Given the description of an element on the screen output the (x, y) to click on. 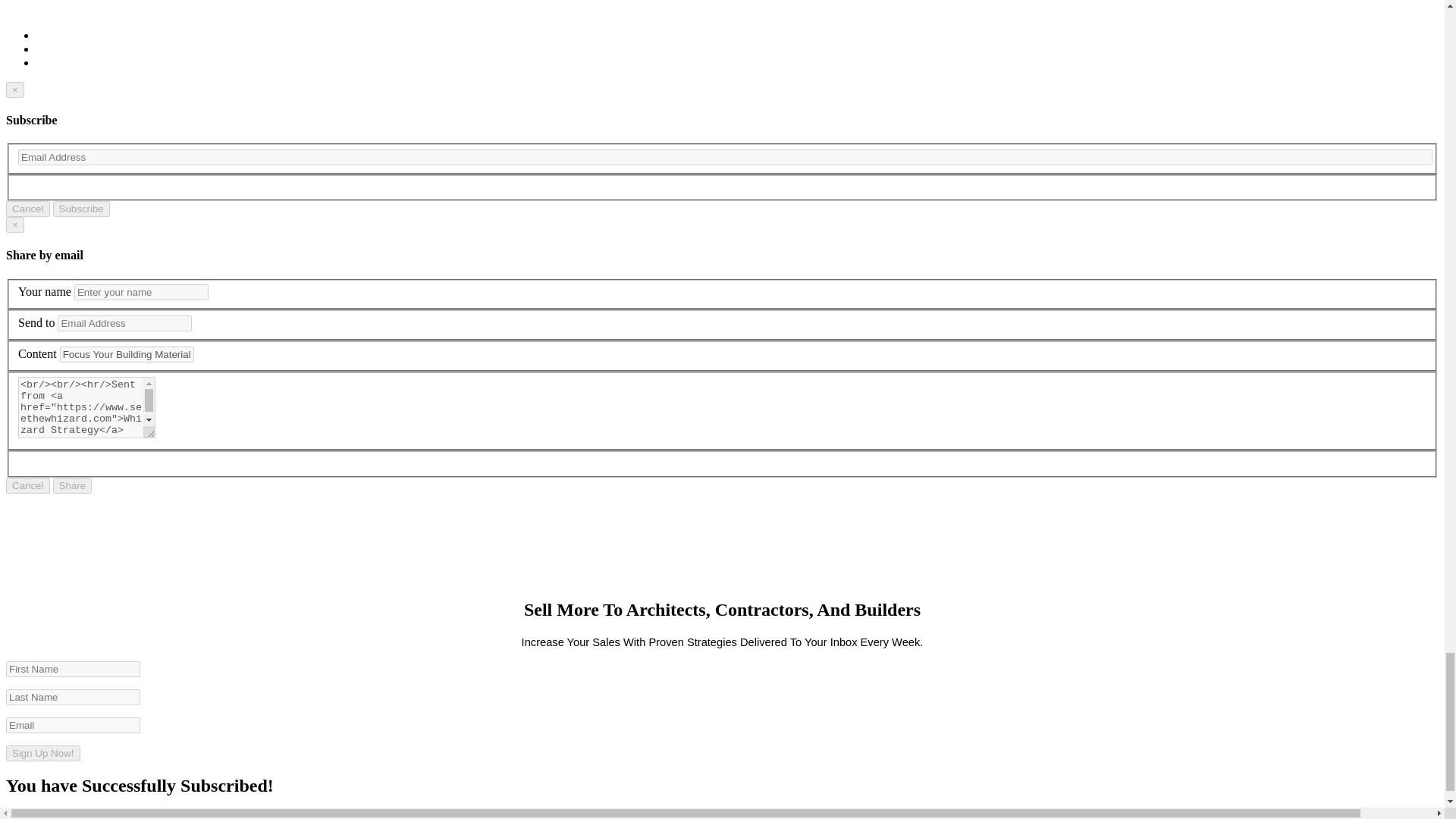
Subscribe (81, 208)
Cancel (27, 485)
Sign Up Now! (42, 753)
Cancel (27, 208)
Share (72, 485)
